Given the description of an element on the screen output the (x, y) to click on. 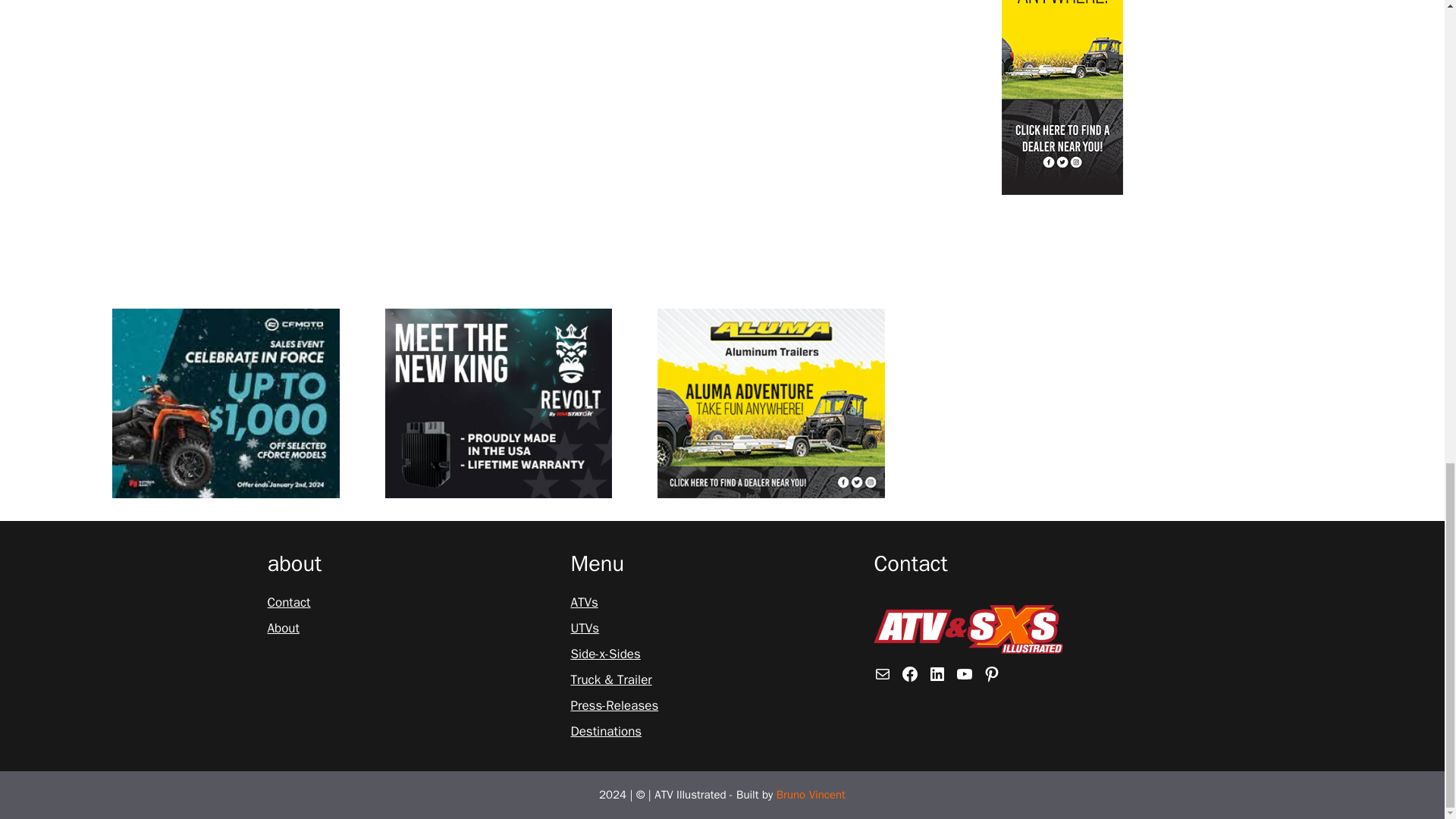
UTVs (584, 628)
About (282, 628)
Logo-250-w (967, 629)
Side-x-Sides (605, 654)
Contact (288, 602)
ATVs (583, 602)
